Given the description of an element on the screen output the (x, y) to click on. 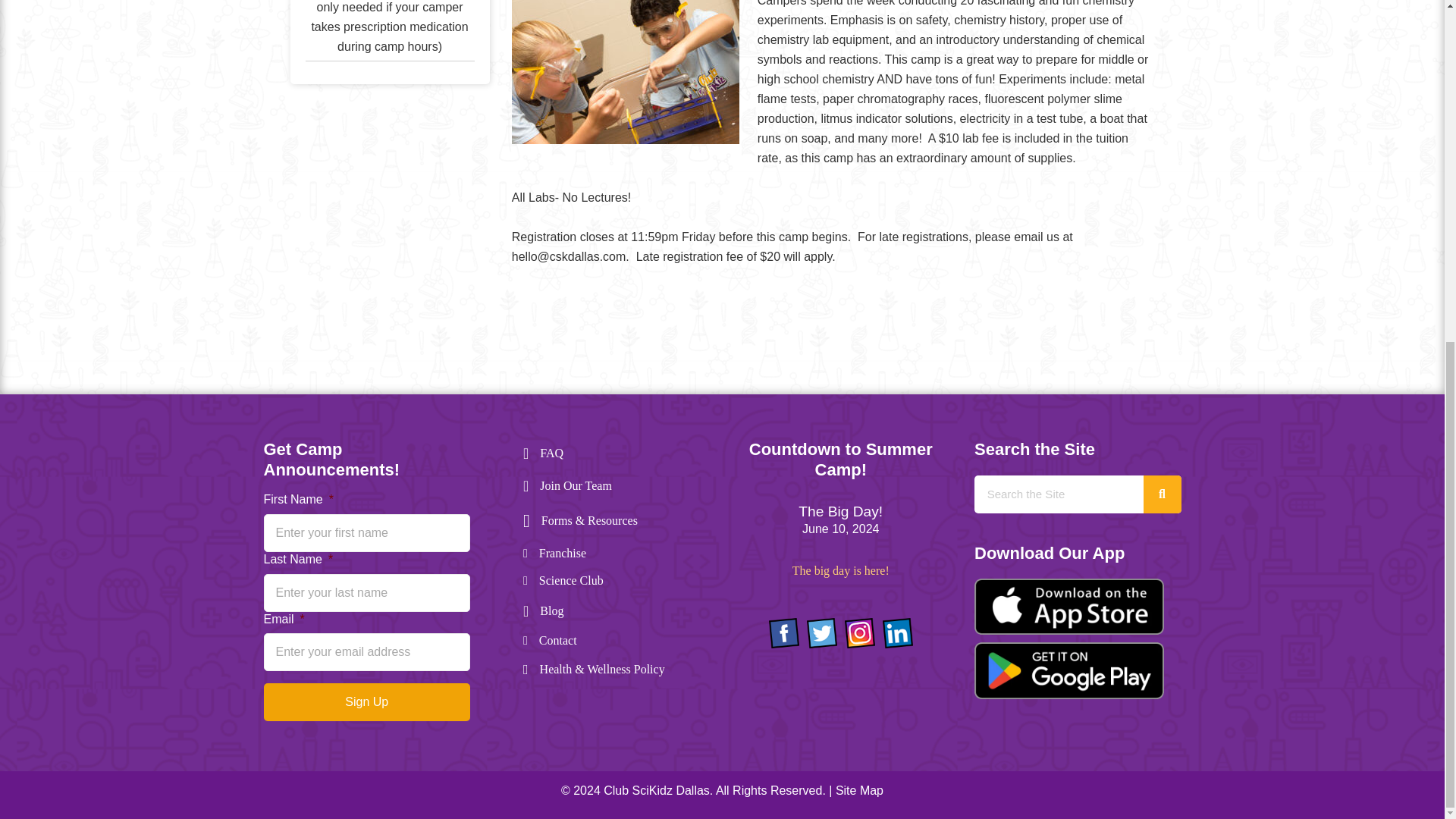
FAQ (551, 453)
instagram-clubscikidz-atlanta (859, 633)
Join Our Team (575, 485)
Science Club (571, 580)
Get it on Google Play (1068, 670)
Sign Up (366, 702)
Sign Up (366, 702)
social-media-icon-facebook (783, 633)
Download on the Apple App Store (1068, 606)
Search (1058, 494)
social-media-icon-twitter (821, 633)
social-media-icon-linked-in (897, 633)
Franchise (562, 553)
